Given the description of an element on the screen output the (x, y) to click on. 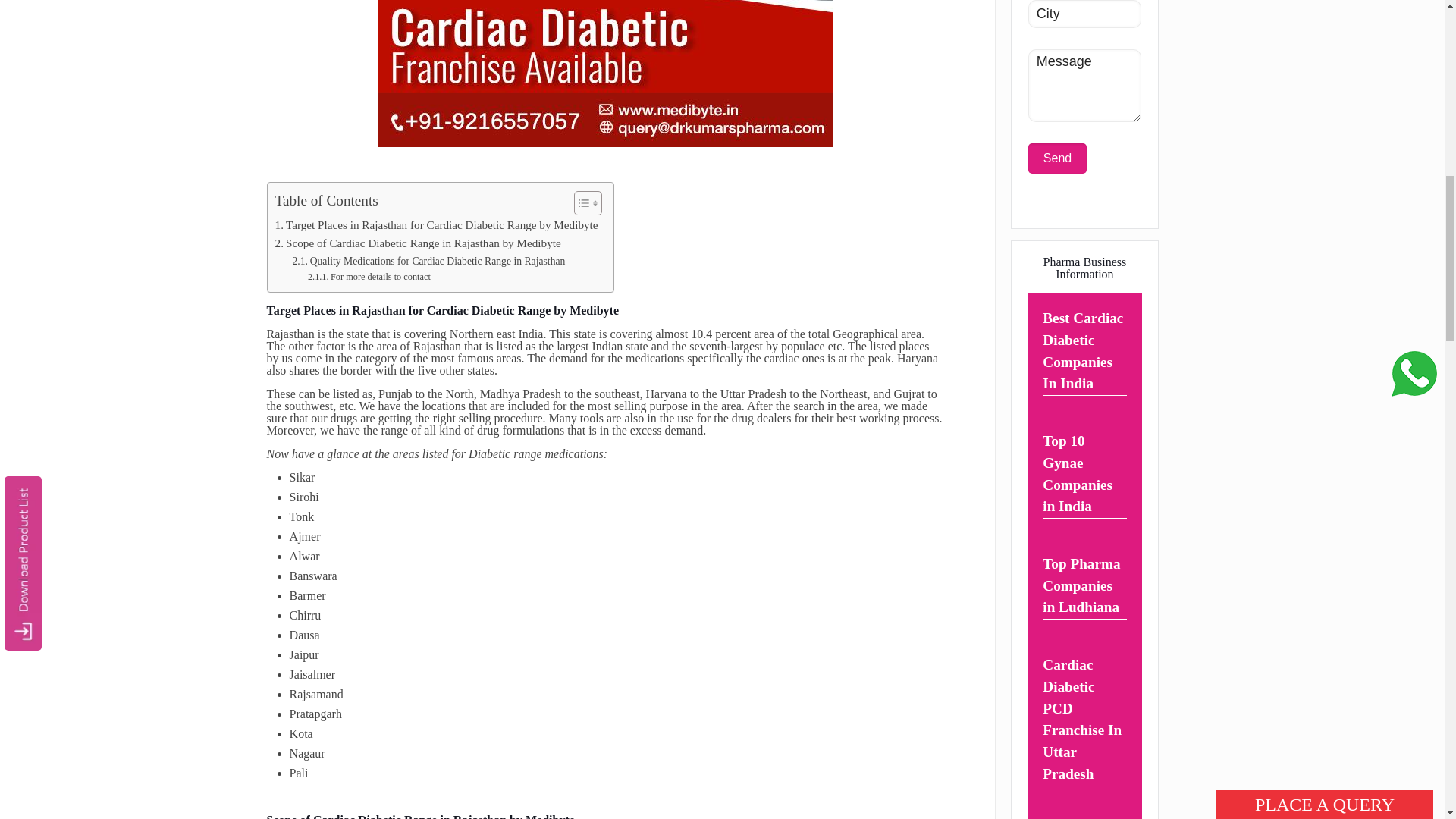
Scope of Cardiac Diabetic Range in Rajasthan by Medibyte (417, 243)
Send (1056, 158)
For more details to contact (368, 277)
Quality Medications for Cardiac Diabetic Range in Rajasthan (428, 261)
